Given the description of an element on the screen output the (x, y) to click on. 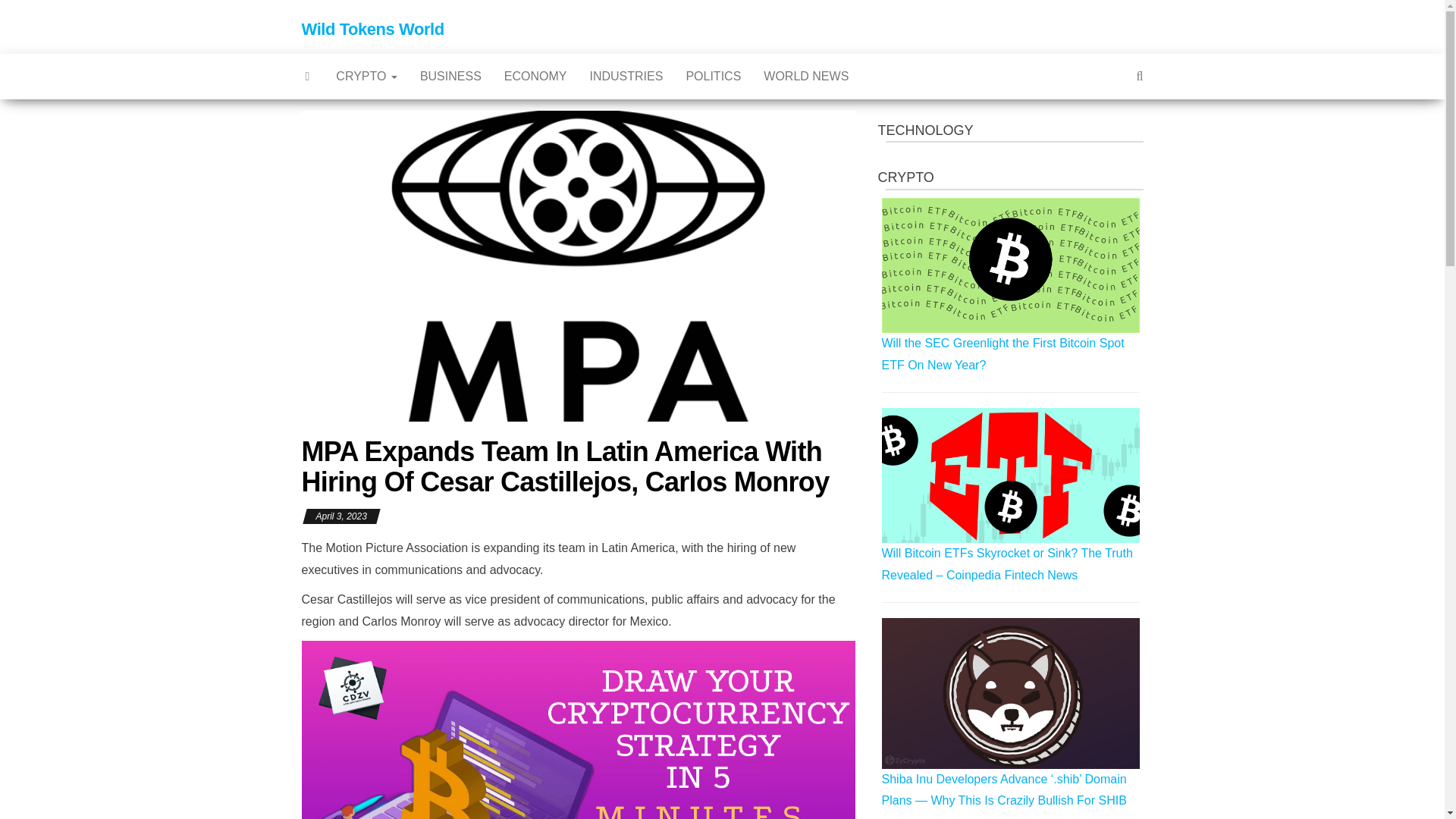
Industries (626, 76)
World News (806, 76)
BUSINESS (451, 76)
Politics (713, 76)
Economy (535, 76)
WORLD NEWS (806, 76)
POLITICS (713, 76)
ECONOMY (535, 76)
CRYPTO (366, 76)
Crypto (366, 76)
INDUSTRIES (626, 76)
